Given the description of an element on the screen output the (x, y) to click on. 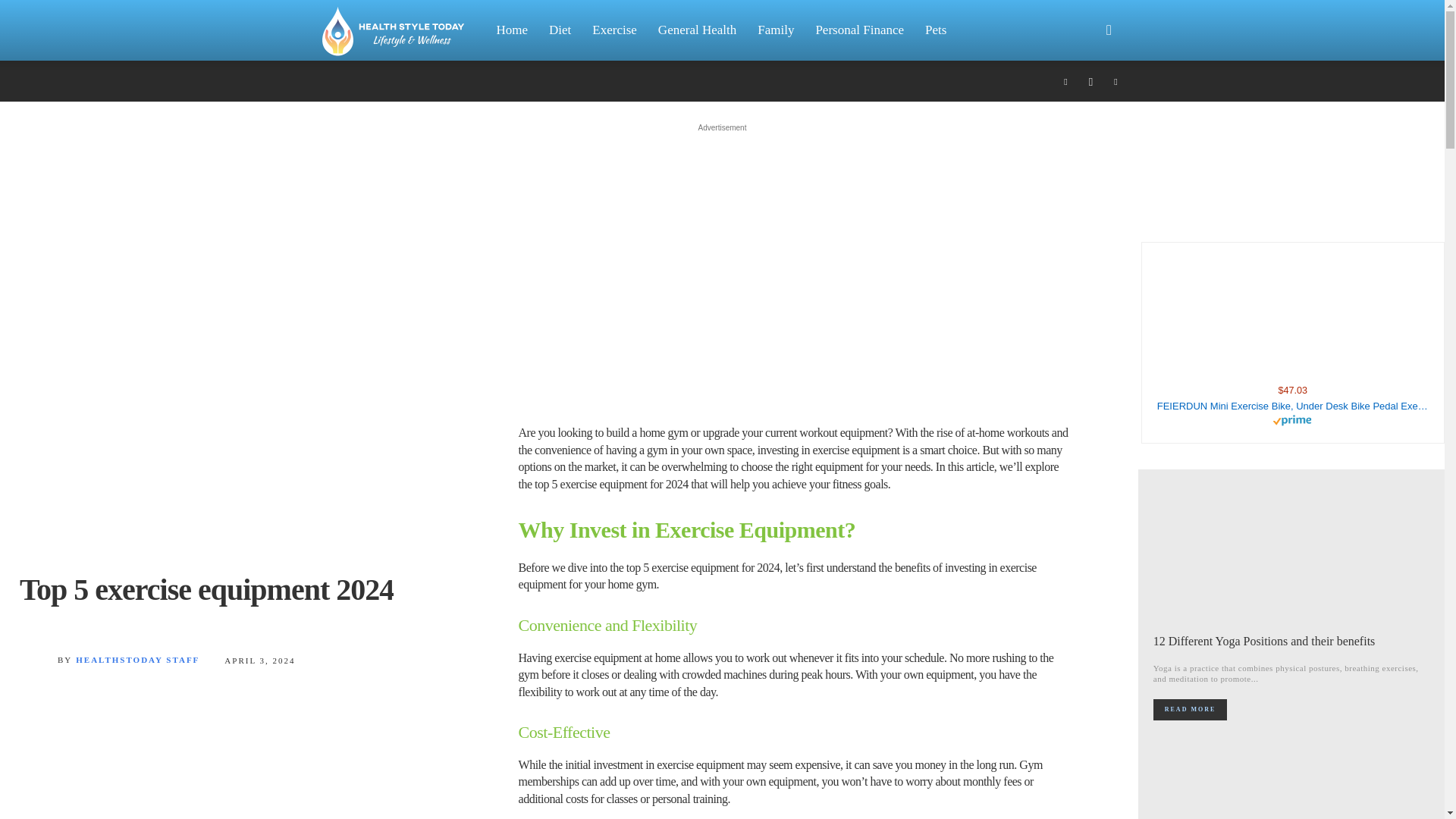
HealthsToday Hands holding a tear drop bubble (392, 31)
HealthsToday (400, 30)
Exercise (613, 30)
General Health (696, 30)
